Given the description of an element on the screen output the (x, y) to click on. 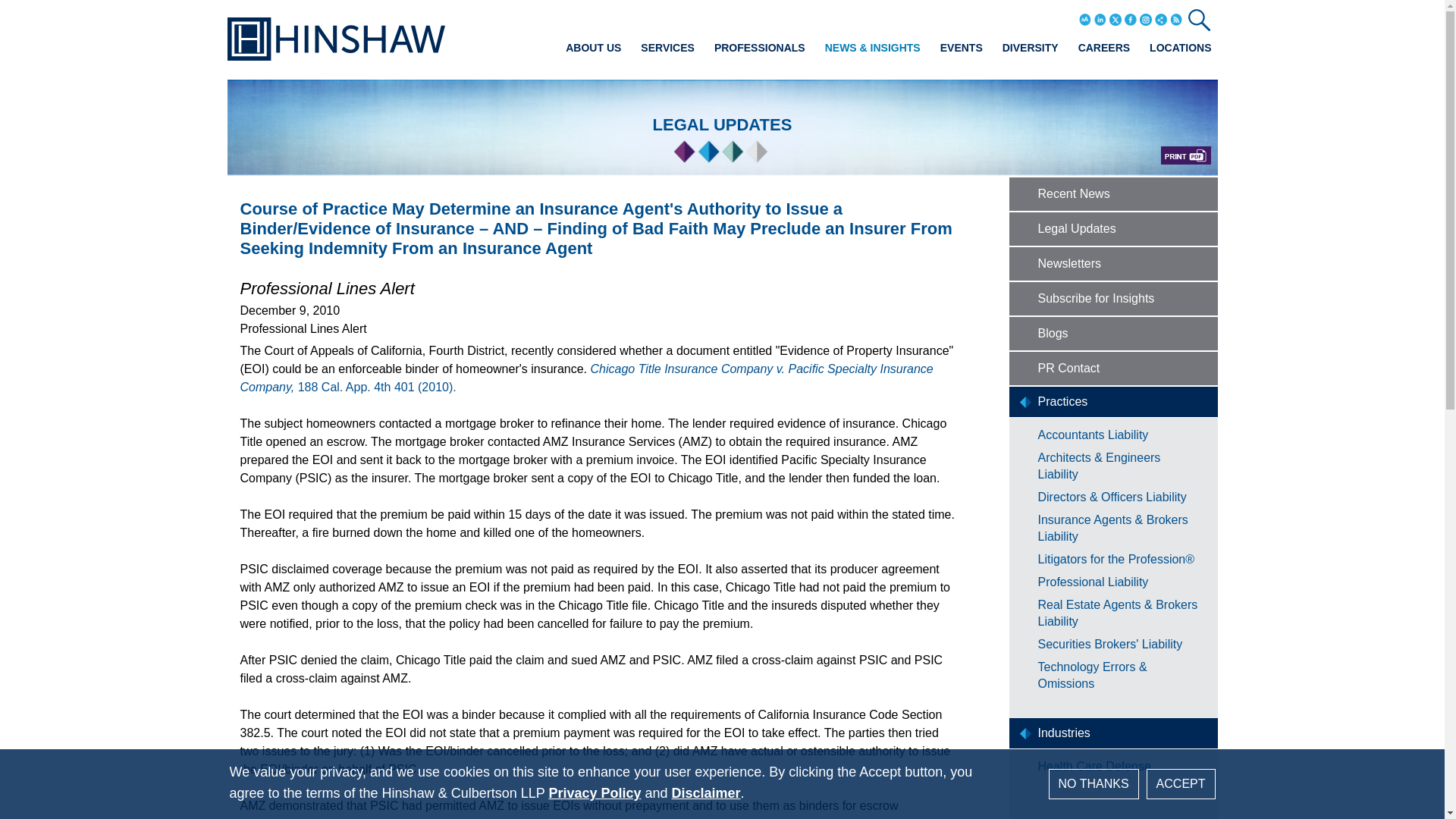
Menu (680, 16)
ABOUT US (593, 47)
PROFESSIONALS (759, 47)
Main Content (674, 16)
SERVICES (667, 47)
Main Menu (680, 16)
